Given the description of an element on the screen output the (x, y) to click on. 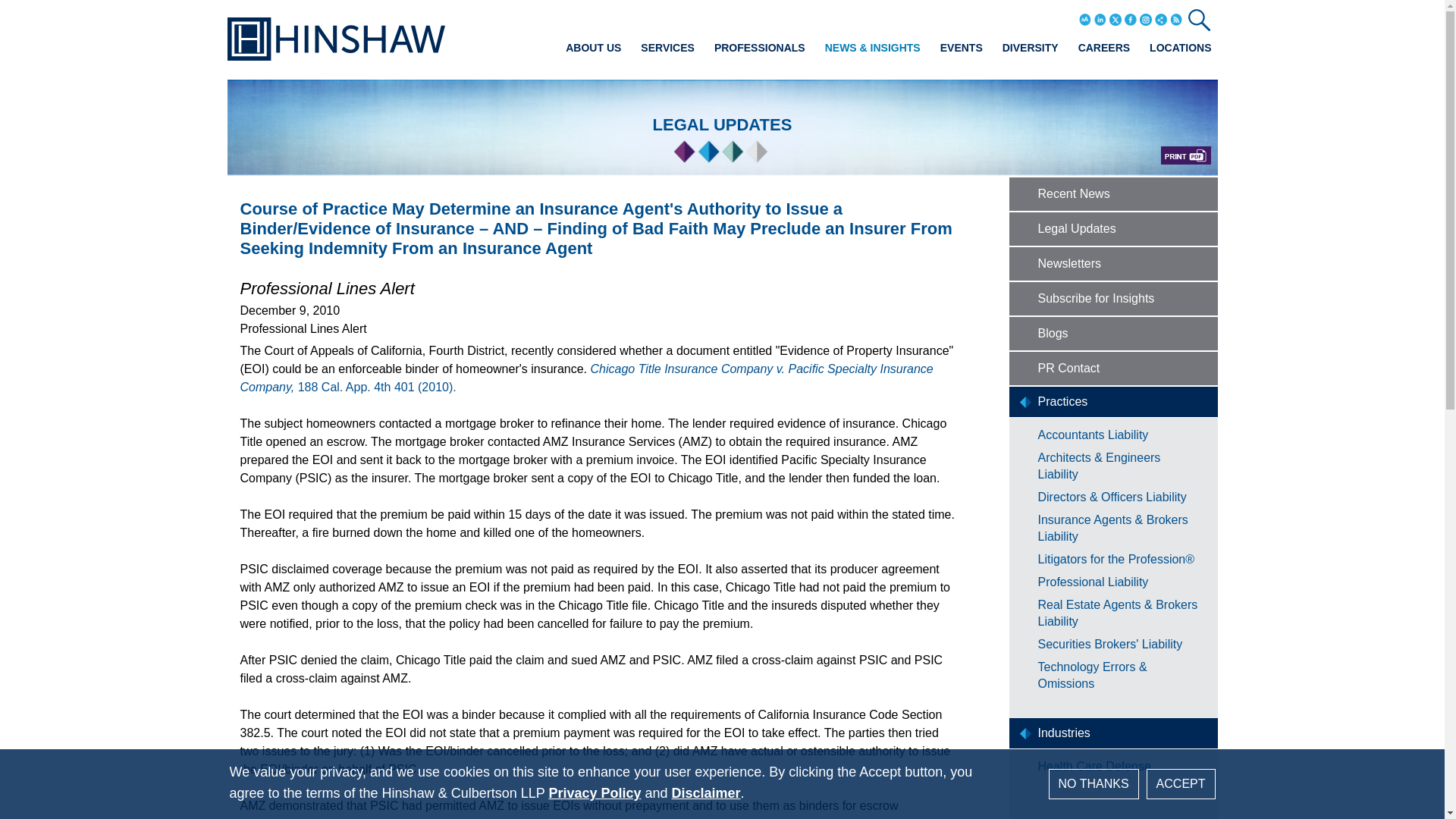
Menu (680, 16)
ABOUT US (593, 47)
PROFESSIONALS (759, 47)
Main Content (674, 16)
SERVICES (667, 47)
Main Menu (680, 16)
